Given the description of an element on the screen output the (x, y) to click on. 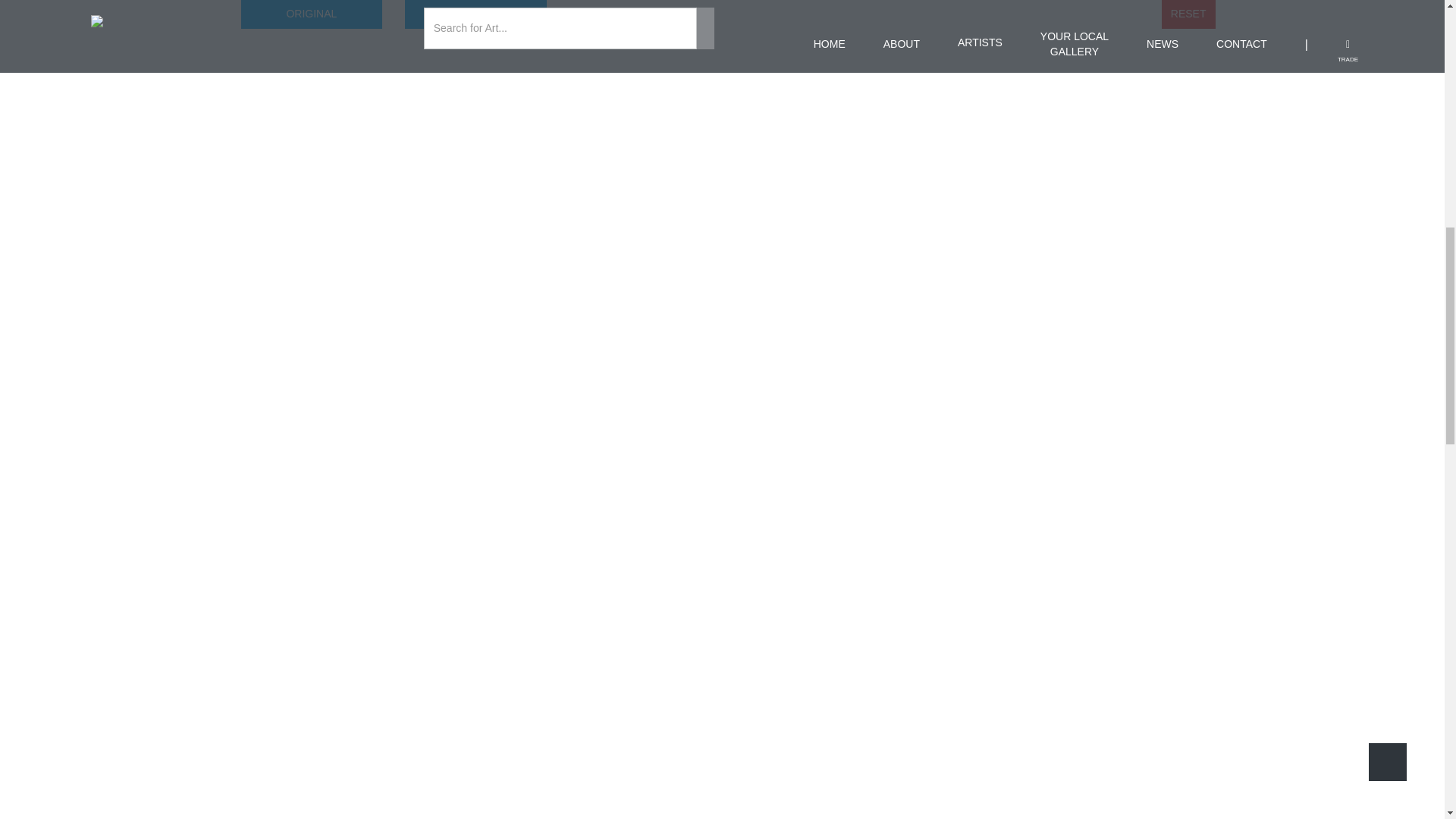
ORIGINAL (311, 14)
LIMITED EDITION (475, 14)
RESET (1188, 14)
